Given the description of an element on the screen output the (x, y) to click on. 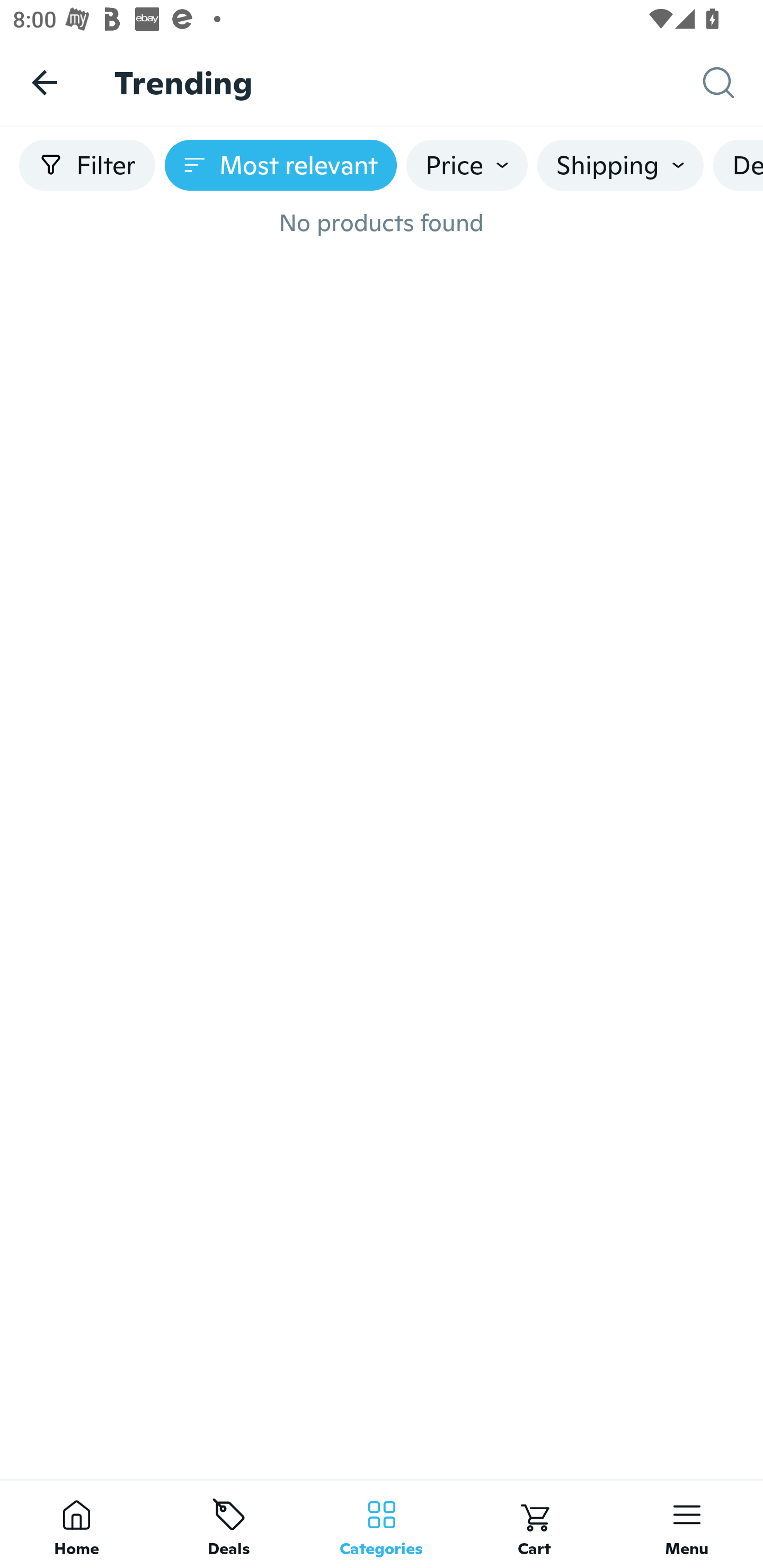
Navigate up (44, 82)
Search (732, 82)
Filter (86, 165)
Most relevant (280, 165)
Price (466, 165)
Shipping (620, 165)
Home (76, 1523)
Deals (228, 1523)
Categories (381, 1523)
Cart (533, 1523)
Menu (686, 1523)
